Given the description of an element on the screen output the (x, y) to click on. 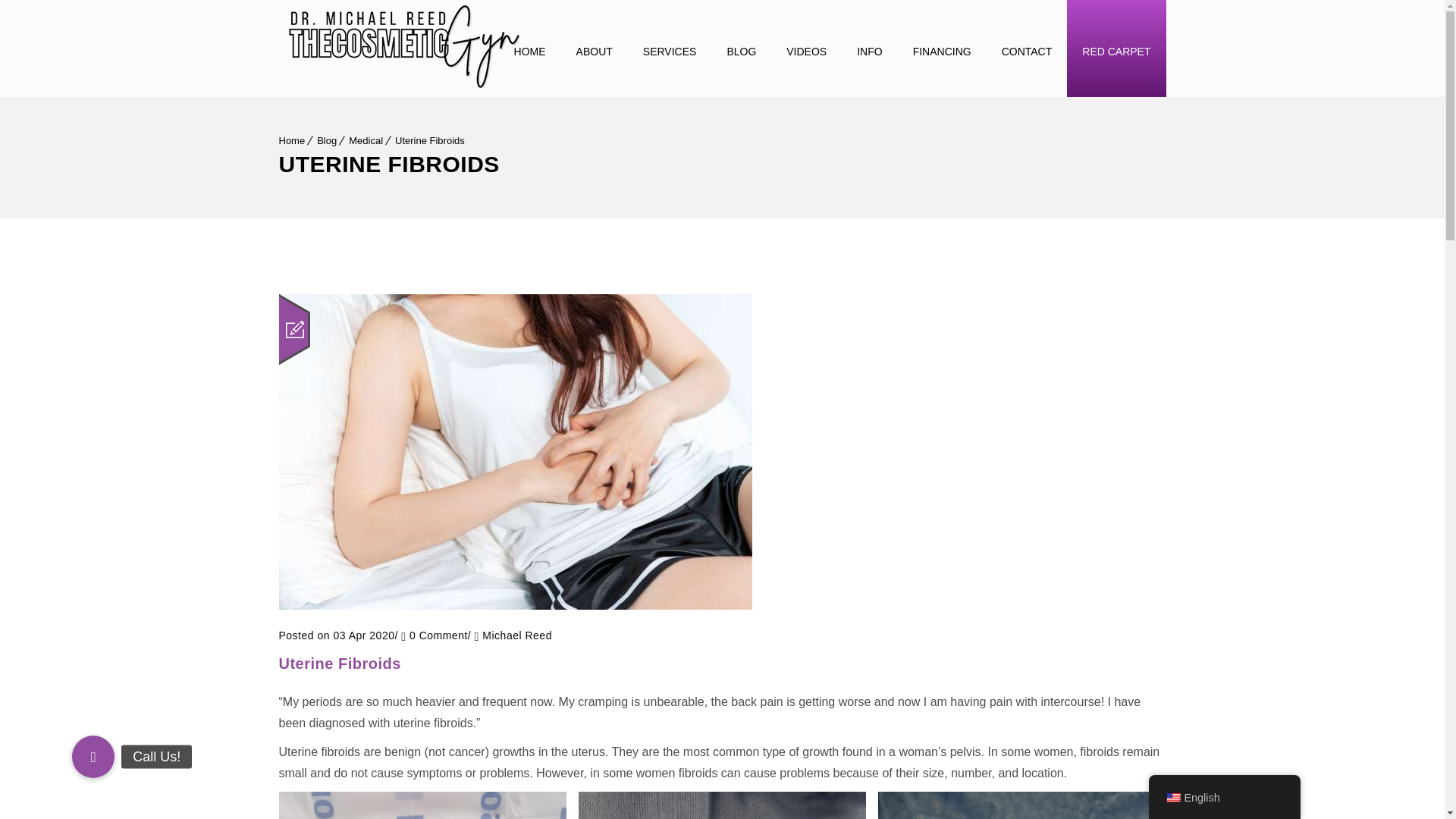
Home (292, 140)
Dr. Michael Reed (403, 43)
Permalink to Uterine Fibroids (340, 663)
Blog (326, 140)
Uterine Fibroids (429, 140)
View all posts by Michael Reed (516, 635)
Medical (365, 140)
Go (1147, 18)
Permalink to Uterine Fibroids (515, 604)
English (1172, 797)
